Given the description of an element on the screen output the (x, y) to click on. 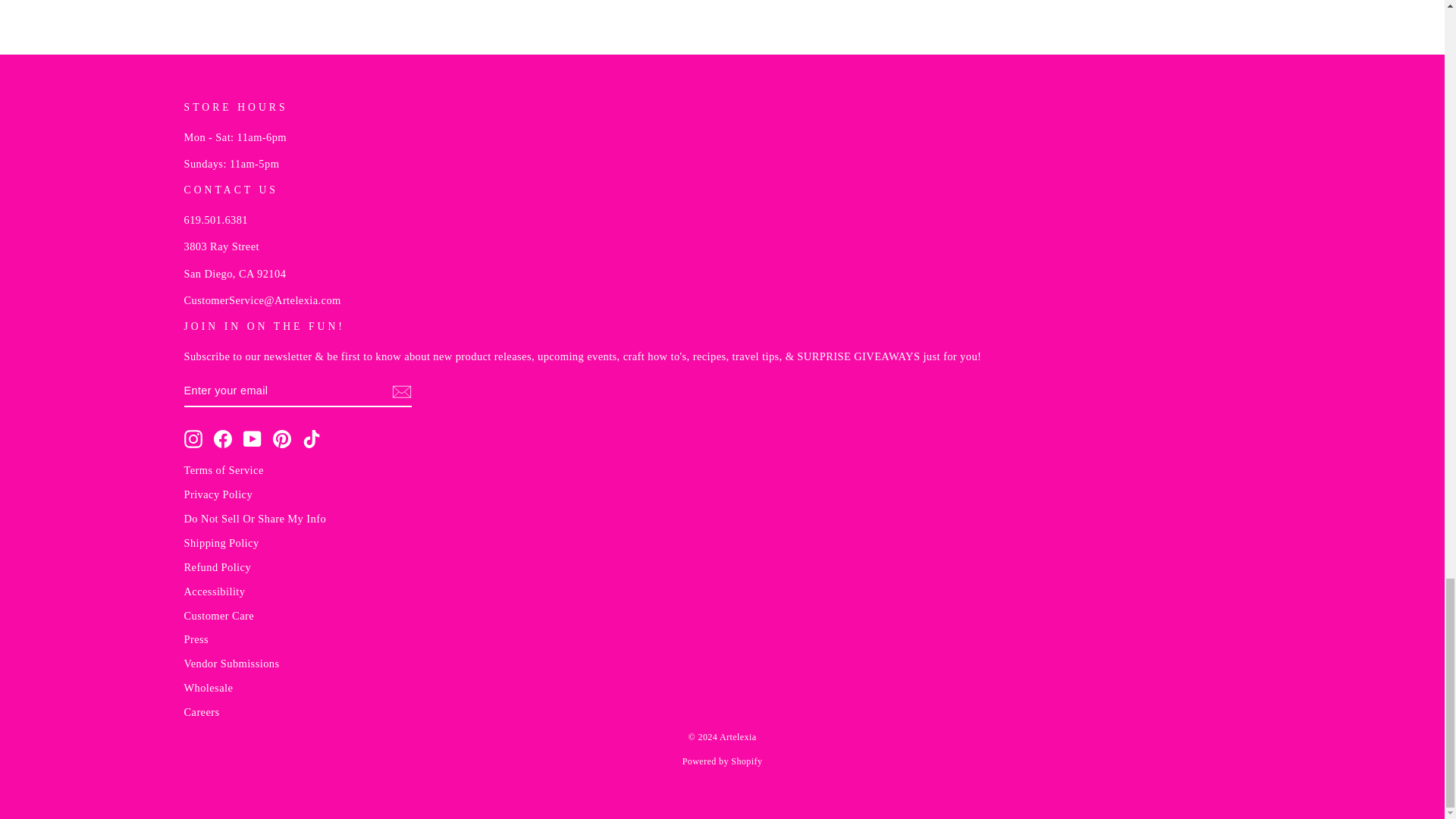
Artelexia on TikTok (310, 438)
Artelexia on Facebook (222, 438)
Artelexia on Instagram (192, 438)
Artelexia on Pinterest (282, 438)
Artelexia on YouTube (251, 438)
